Given the description of an element on the screen output the (x, y) to click on. 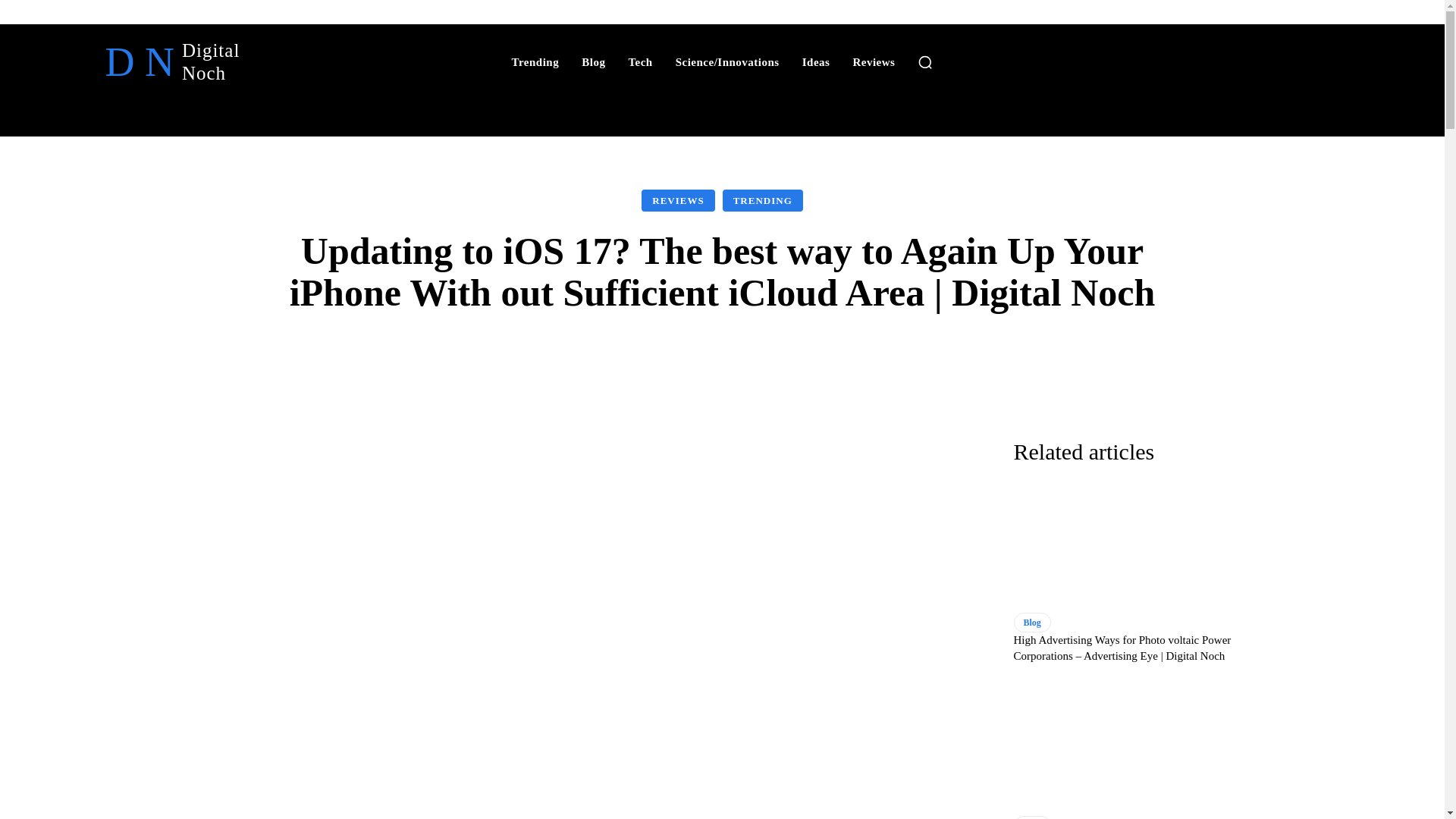
Blog (592, 61)
REVIEWS (678, 200)
Trending (127, 62)
Tech (535, 61)
TRENDING (639, 61)
Reviews (762, 200)
Ideas (873, 61)
